Given the description of an element on the screen output the (x, y) to click on. 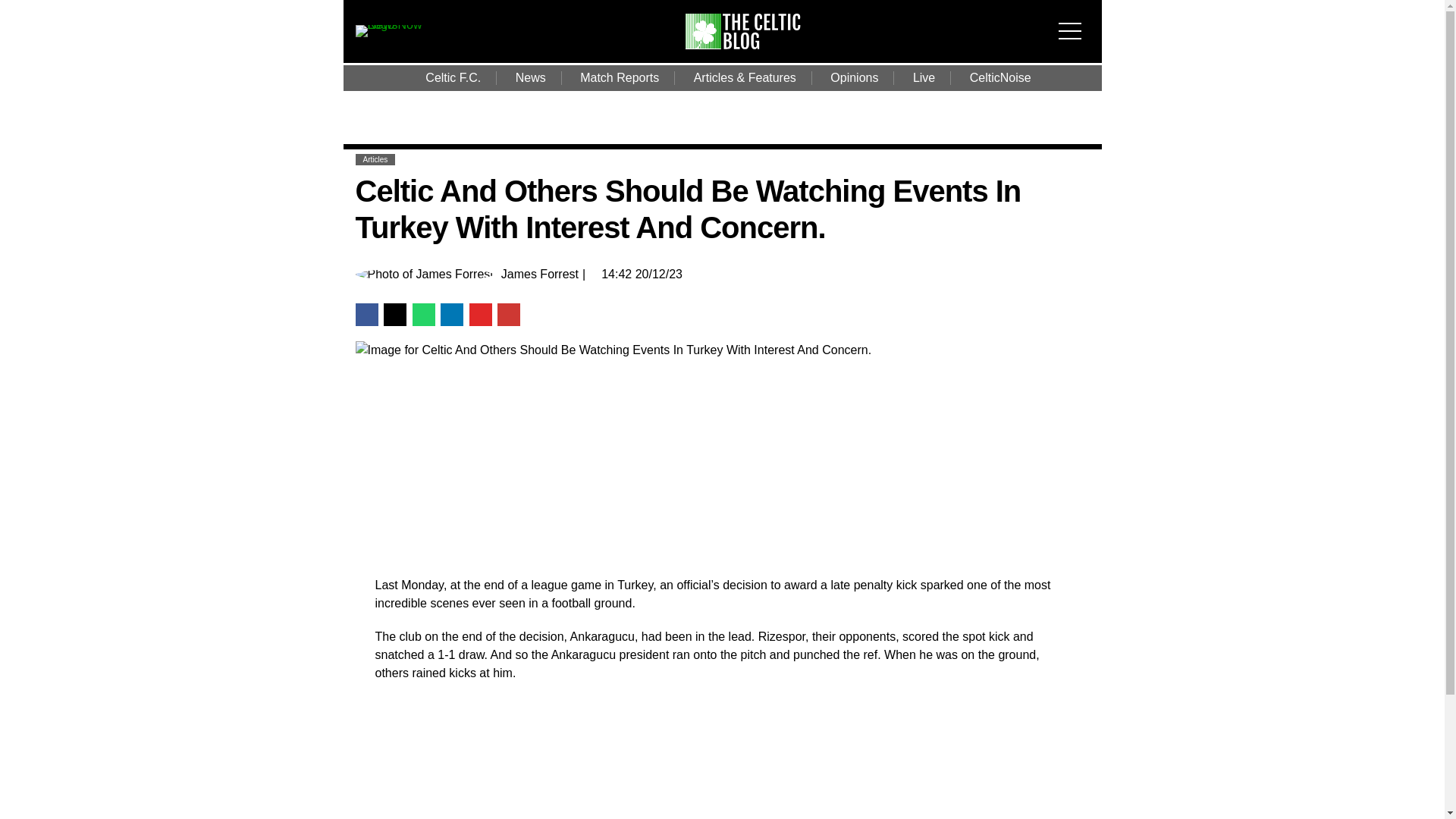
share on Facebook (366, 314)
Live (924, 78)
Back to the homepage (751, 44)
CelticNoise (1000, 78)
Articles (374, 159)
share on LinkedIn (452, 314)
Match Reports (619, 78)
share on Email (508, 314)
Opinions (854, 78)
James Forrest (539, 274)
Menu (1074, 21)
share on Twitter (395, 314)
News (530, 78)
share on WhatsApp (423, 314)
Celtic F.C. (453, 78)
